Given the description of an element on the screen output the (x, y) to click on. 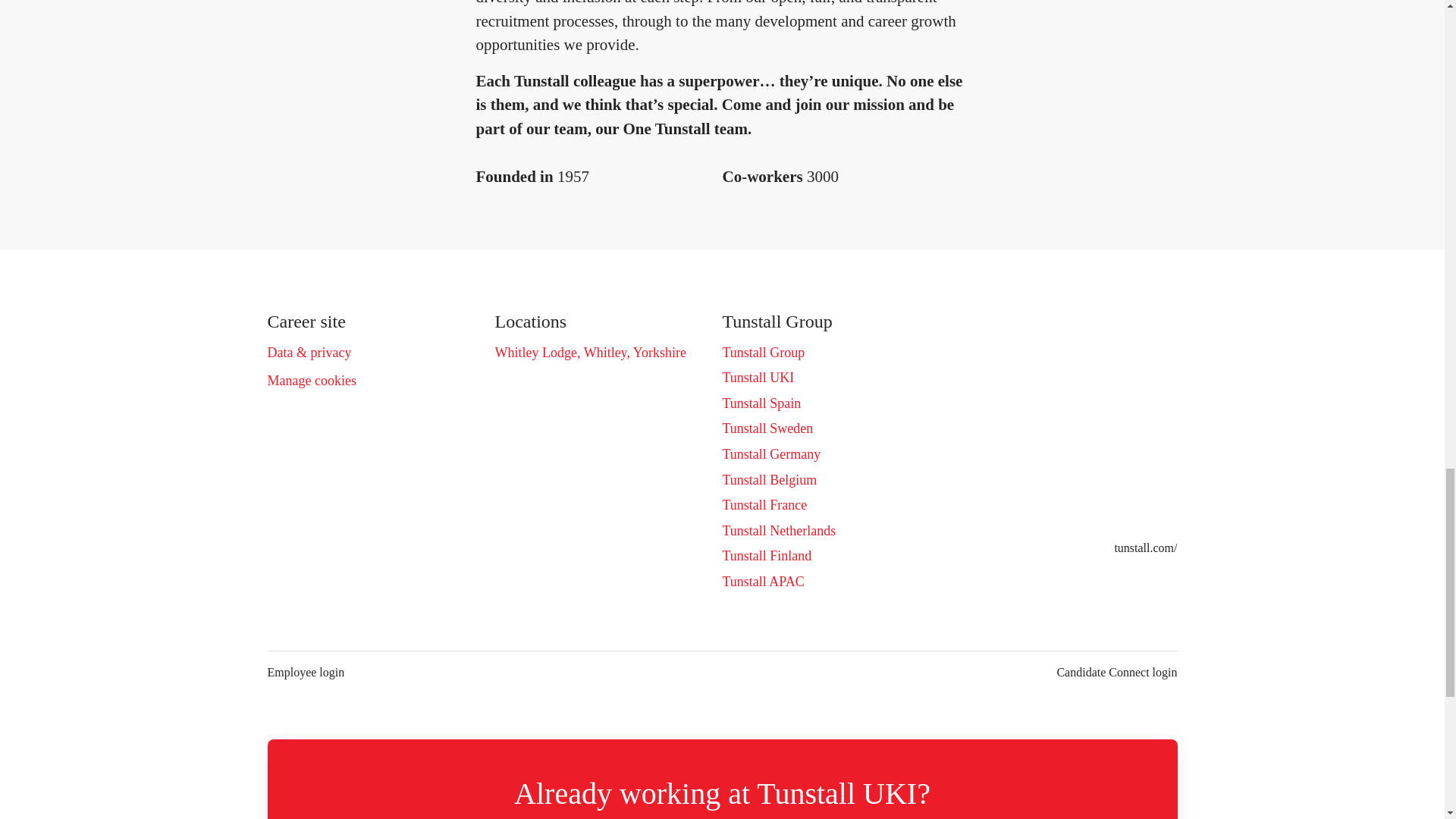
Whitley Lodge, Whitley, Yorkshire (590, 352)
Tunstall Sweden (767, 427)
Tunstall France (764, 504)
Tunstall Spain (761, 403)
Tunstall Group (763, 352)
Tunstall Netherlands (778, 530)
Tunstall UKI (757, 377)
Tunstall Germany (771, 454)
Manage cookies (310, 381)
Tunstall Belgium (769, 479)
